Given the description of an element on the screen output the (x, y) to click on. 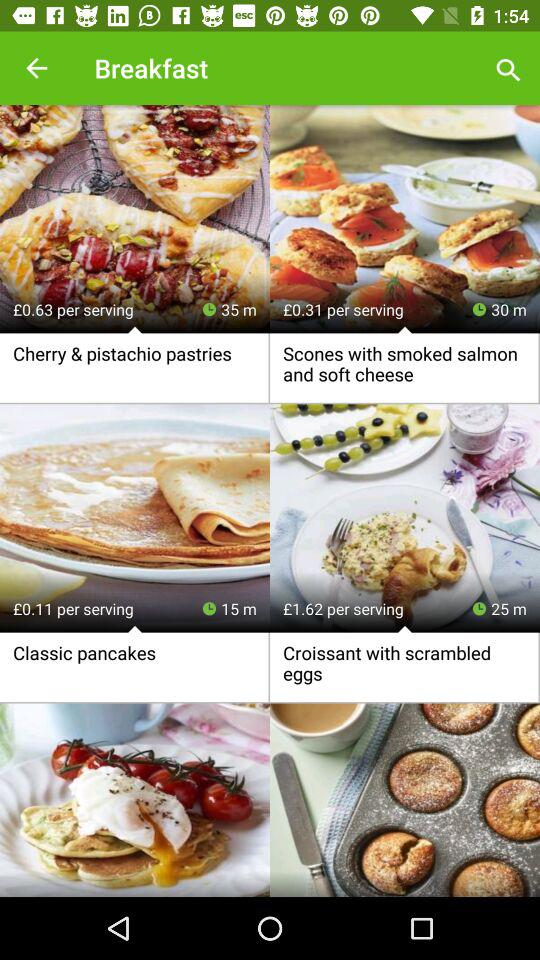
select the up scroll icon in the 30m image (404, 331)
